Given the description of an element on the screen output the (x, y) to click on. 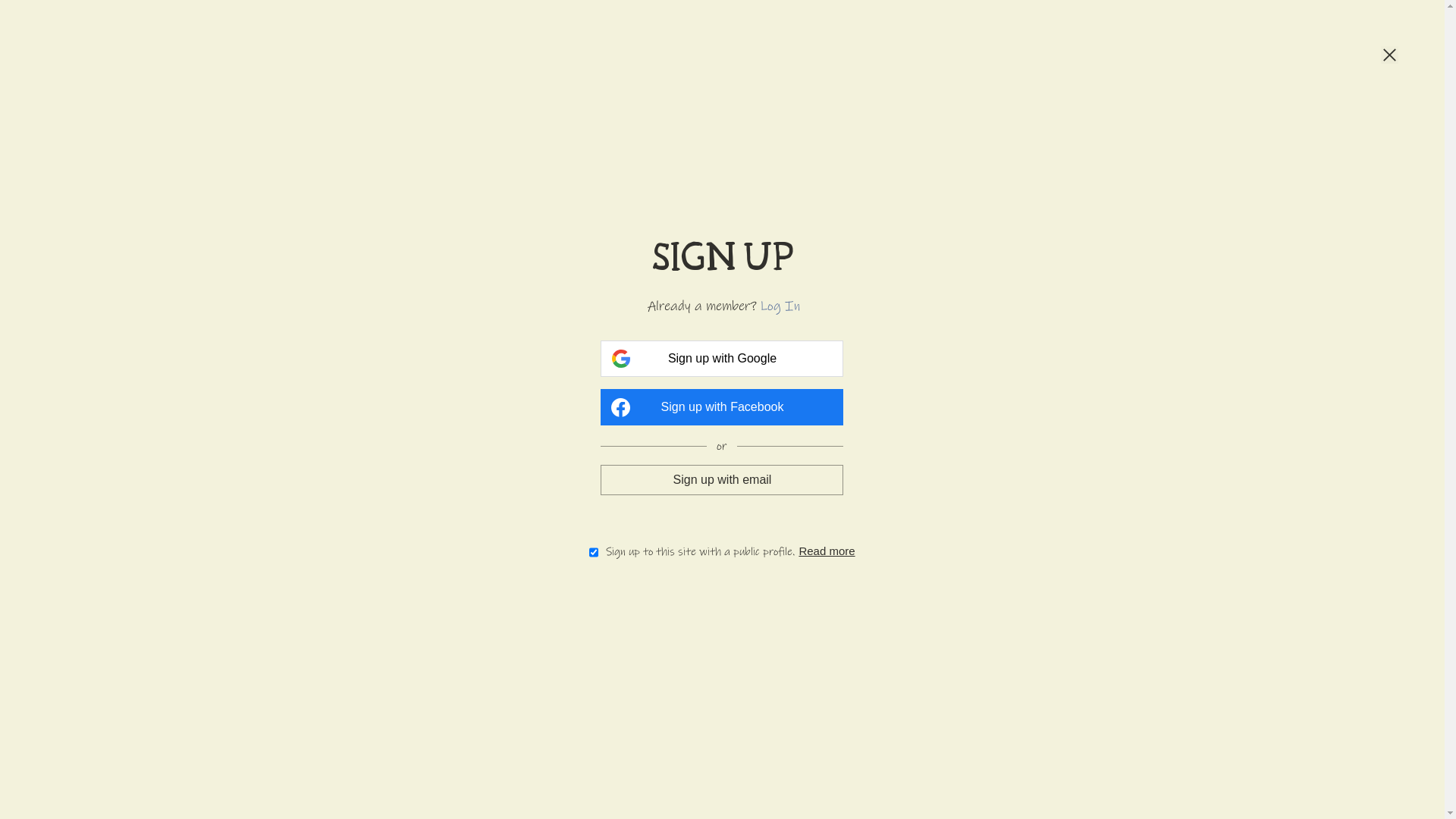
Sign up with Facebook Element type: text (721, 407)
Sign up with email Element type: text (721, 479)
Read more Element type: text (826, 550)
Log In Element type: text (779, 306)
Sign up with Google Element type: text (721, 358)
